Given the description of an element on the screen output the (x, y) to click on. 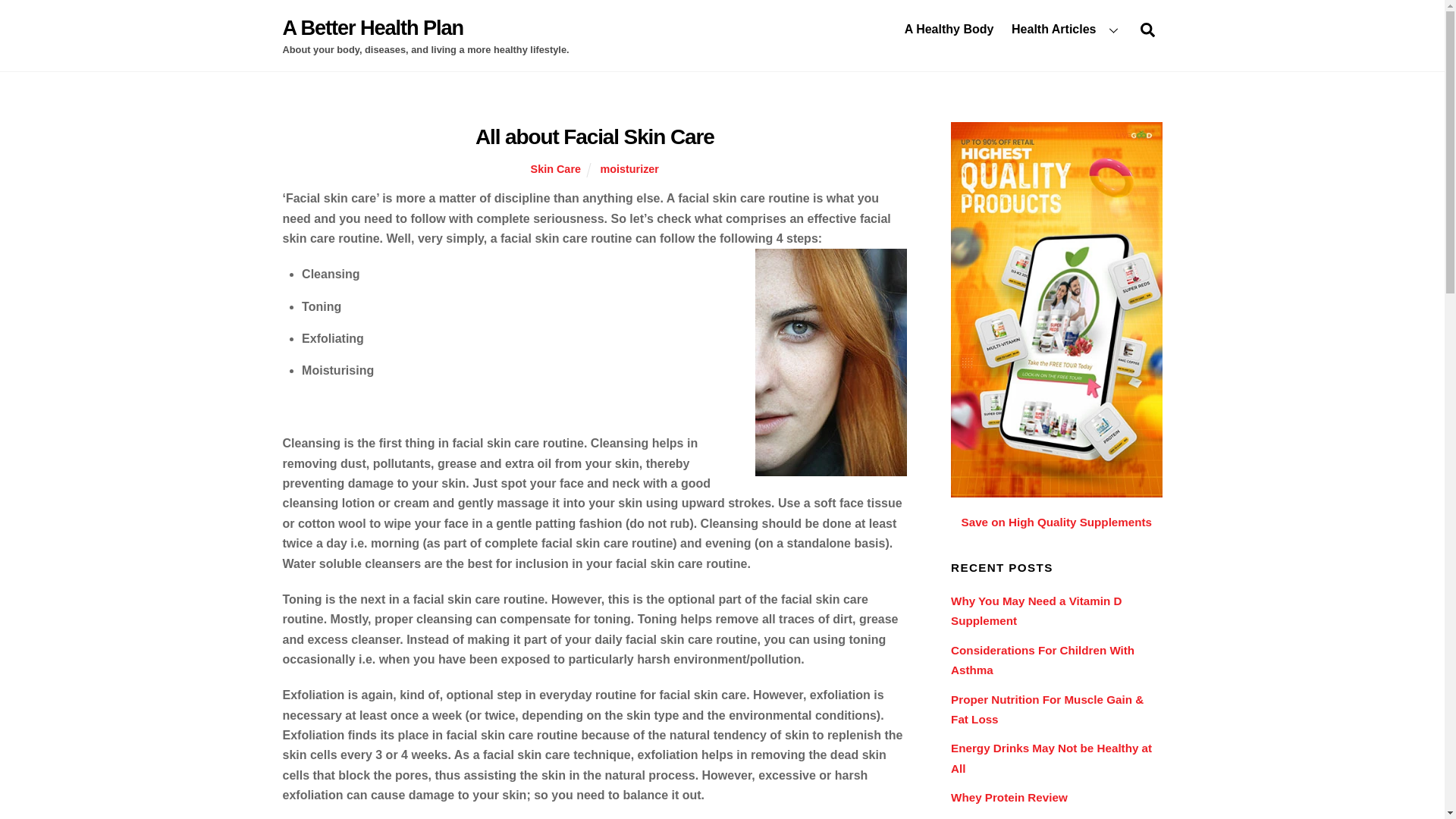
A Better Health Plan (372, 27)
All about Facial Skin Care (595, 136)
Save on High Quality Supplements (1055, 521)
Why You May Need a Vitamin D Supplement (721, 29)
Search (1035, 610)
Health Articles (1146, 29)
moisturizer (1066, 29)
A Healthy Body (629, 168)
Considerations For Children With Asthma (948, 29)
A Better Health Plan (1042, 659)
Skin Care (372, 27)
